Given the description of an element on the screen output the (x, y) to click on. 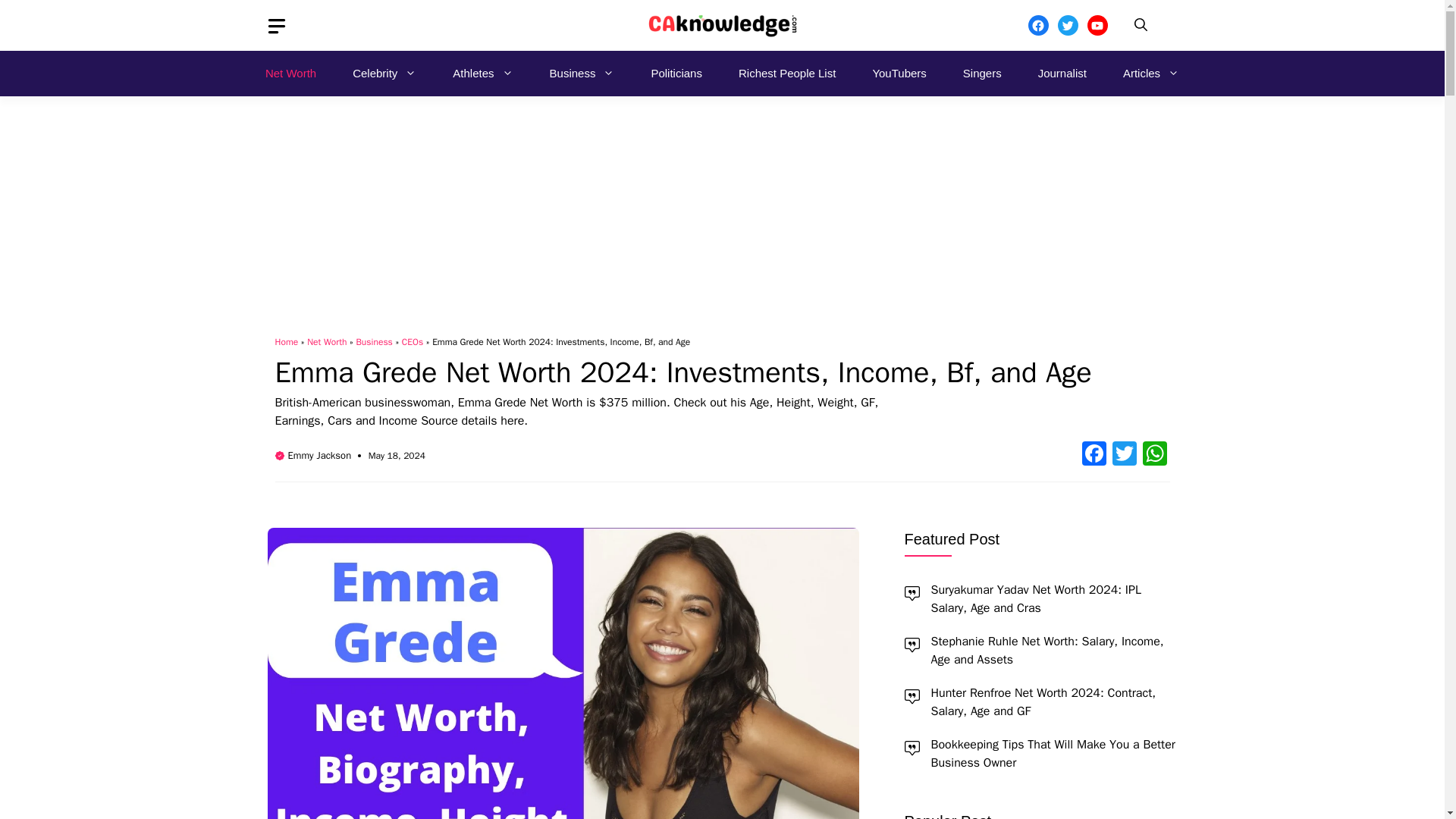
Net Worth (290, 73)
Facebook (1093, 455)
Business (582, 73)
Twitter (1067, 25)
Celebrity (383, 73)
Twitter (1123, 455)
Athletes (482, 73)
WhatsApp (1153, 455)
Facebook (1037, 25)
Politicians (675, 73)
YouTube (1097, 25)
